Given the description of an element on the screen output the (x, y) to click on. 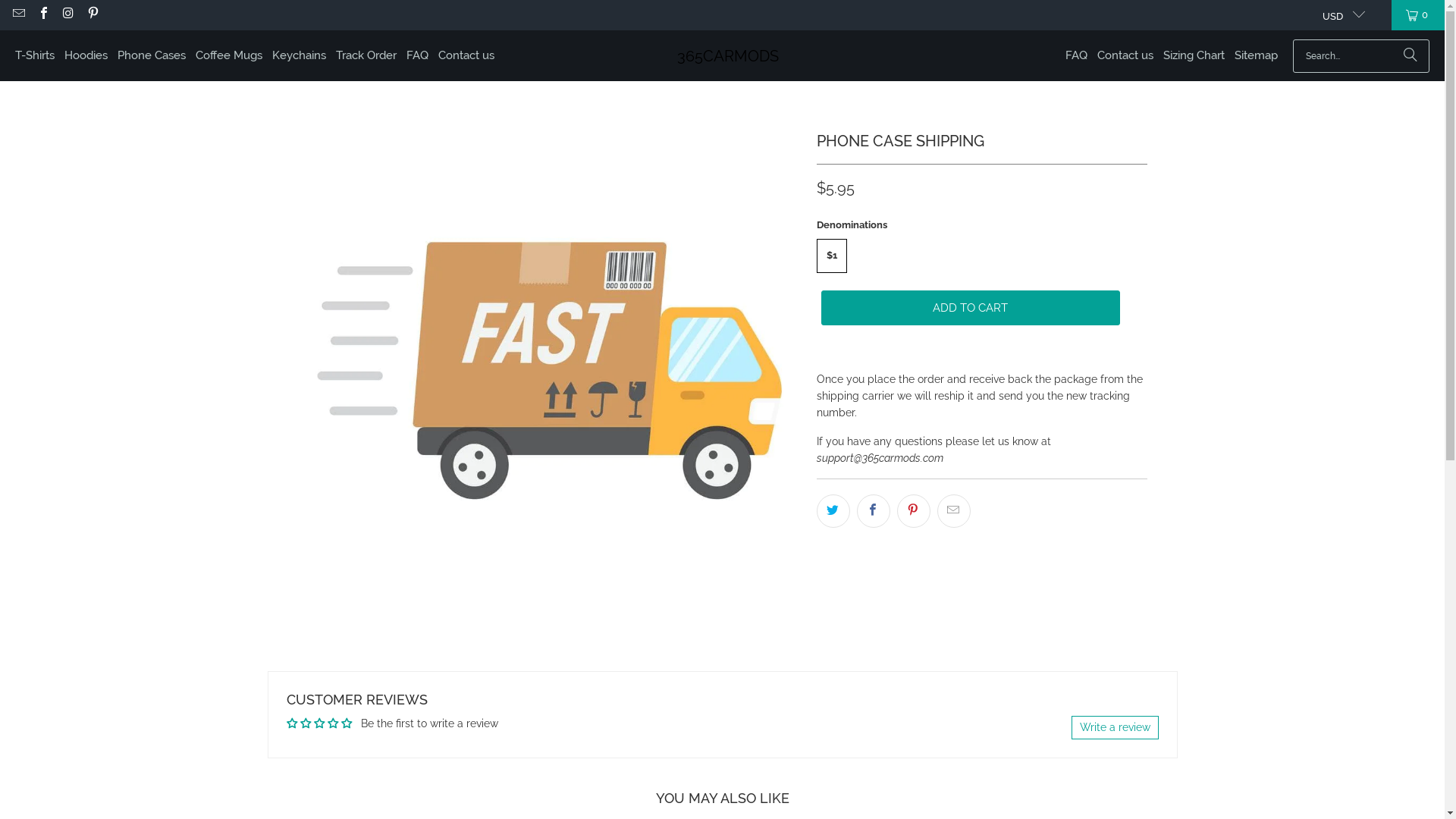
365CarMods on Pinterest Element type: hover (91, 14)
365CarMods on Instagram Element type: hover (67, 14)
Email 365CarMods Element type: hover (18, 14)
Track Order Element type: text (365, 55)
FAQ Element type: text (417, 55)
365CarMods on Facebook Element type: hover (42, 14)
Share this on Twitter Element type: hover (832, 510)
Coffee Mugs Element type: text (228, 55)
Contact us Element type: text (1125, 55)
365CARMODS Element type: text (727, 55)
Contact us Element type: text (466, 55)
Sizing Chart Element type: text (1193, 55)
ADD TO CART Element type: text (969, 307)
Sitemap Element type: text (1255, 55)
FAQ Element type: text (1076, 55)
Share this on Facebook Element type: hover (873, 510)
Write a review Element type: text (1113, 727)
0 Element type: text (1417, 15)
Hoodies Element type: text (85, 55)
Email this to a friend Element type: hover (953, 510)
Phone Cases Element type: text (151, 55)
Share this on Pinterest Element type: hover (912, 510)
T-Shirts Element type: text (34, 55)
USD Element type: text (1337, 15)
Keychains Element type: text (299, 55)
